Given the description of an element on the screen output the (x, y) to click on. 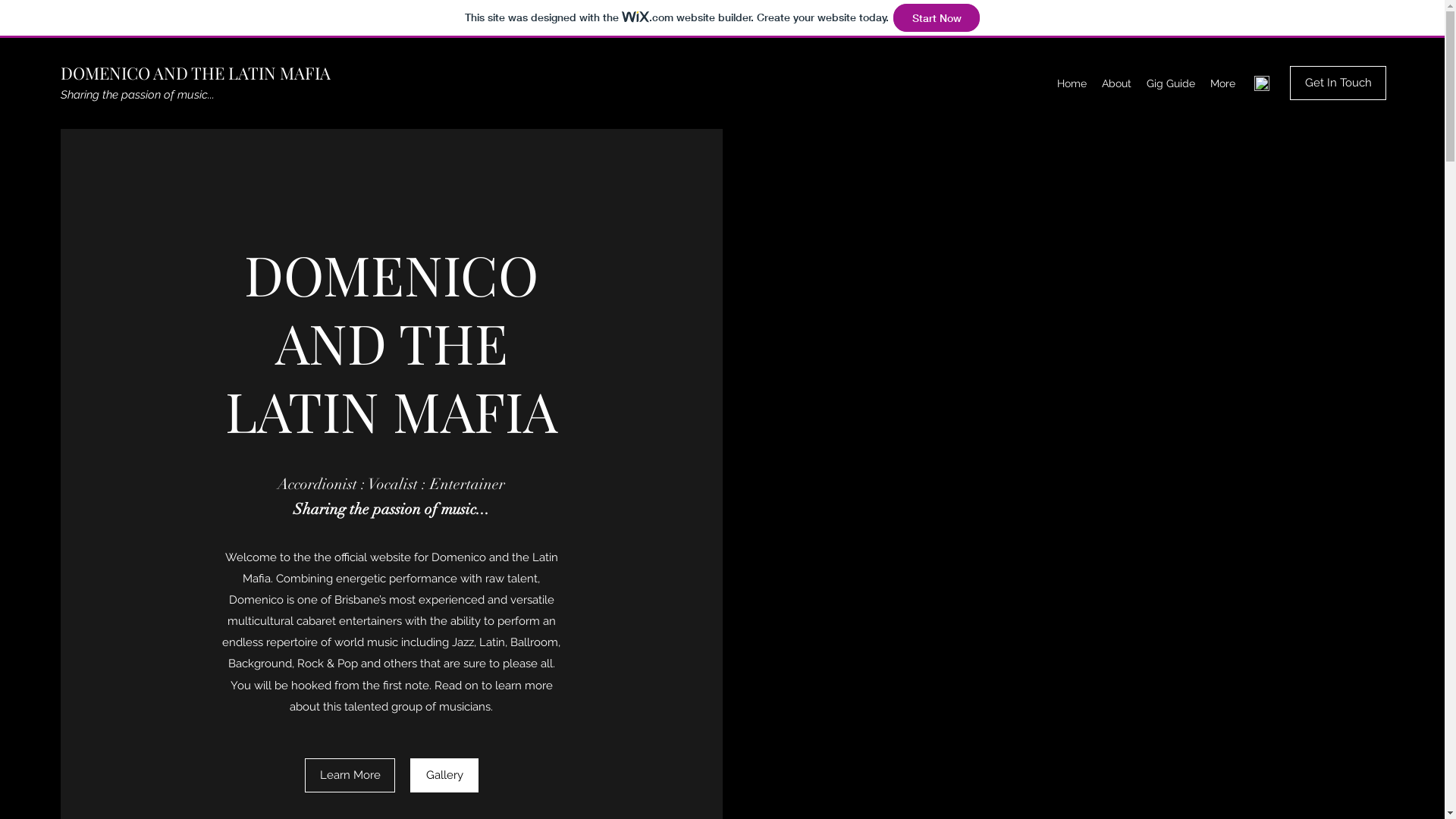
Get In Touch Element type: text (1337, 82)
DOMENICO AND THE LATIN MAFIA Element type: text (195, 72)
Learn More Element type: text (349, 775)
Gig Guide Element type: text (1170, 83)
Gallery Element type: text (444, 775)
Home Element type: text (1071, 83)
About Element type: text (1116, 83)
